Given the description of an element on the screen output the (x, y) to click on. 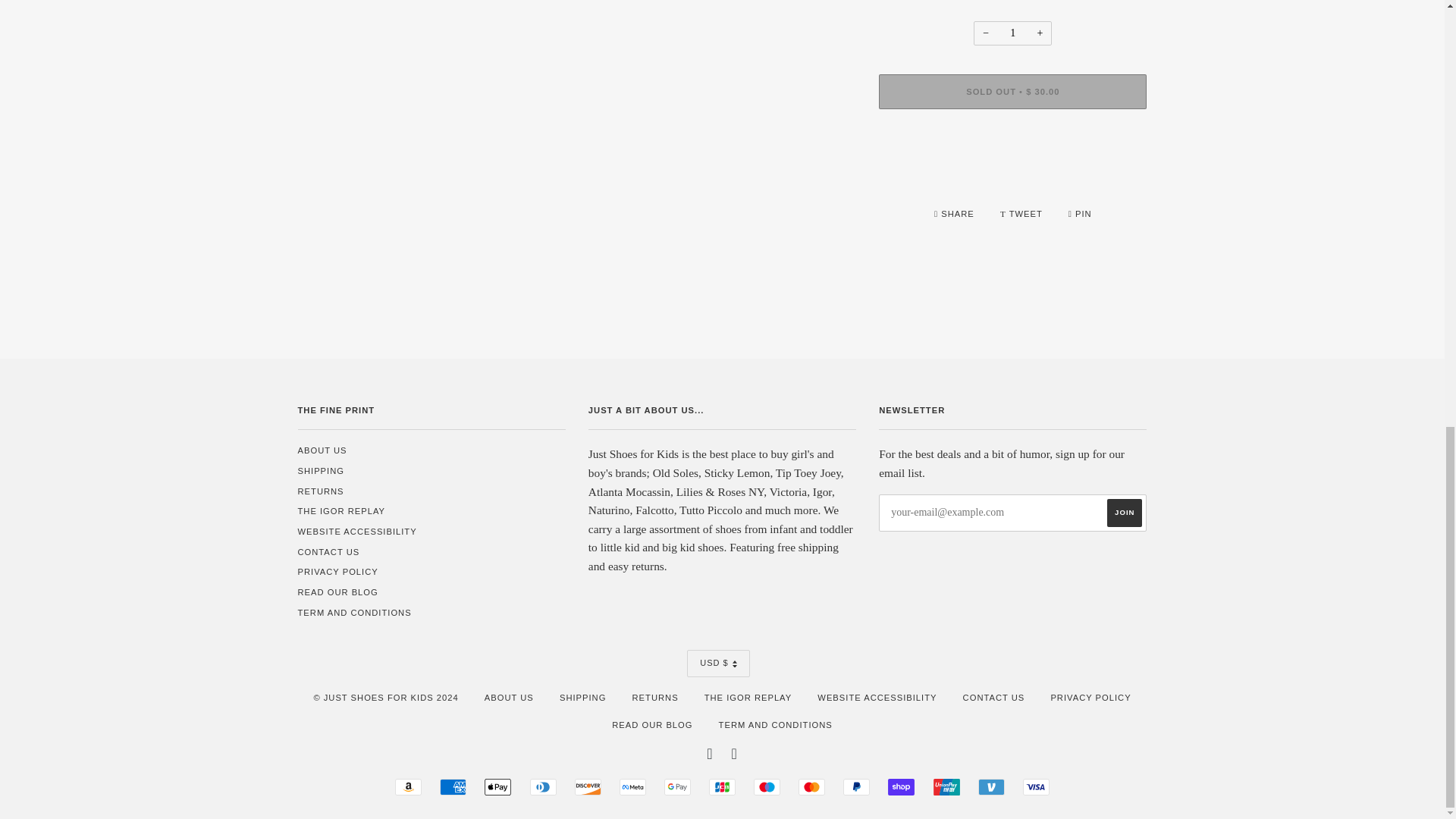
MAESTRO (767, 786)
AMERICAN EXPRESS (452, 786)
META PAY (633, 786)
DISCOVER (588, 786)
PAYPAL (856, 786)
Join (1123, 512)
Just Shoes for Kids on Instagram (735, 755)
MASTERCARD (811, 786)
GOOGLE PAY (676, 786)
1 (1012, 33)
DINERS CLUB (542, 786)
Just Shoes for Kids on Facebook (709, 755)
APPLE PAY (497, 786)
JCB (722, 786)
UNION PAY (946, 786)
